Given the description of an element on the screen output the (x, y) to click on. 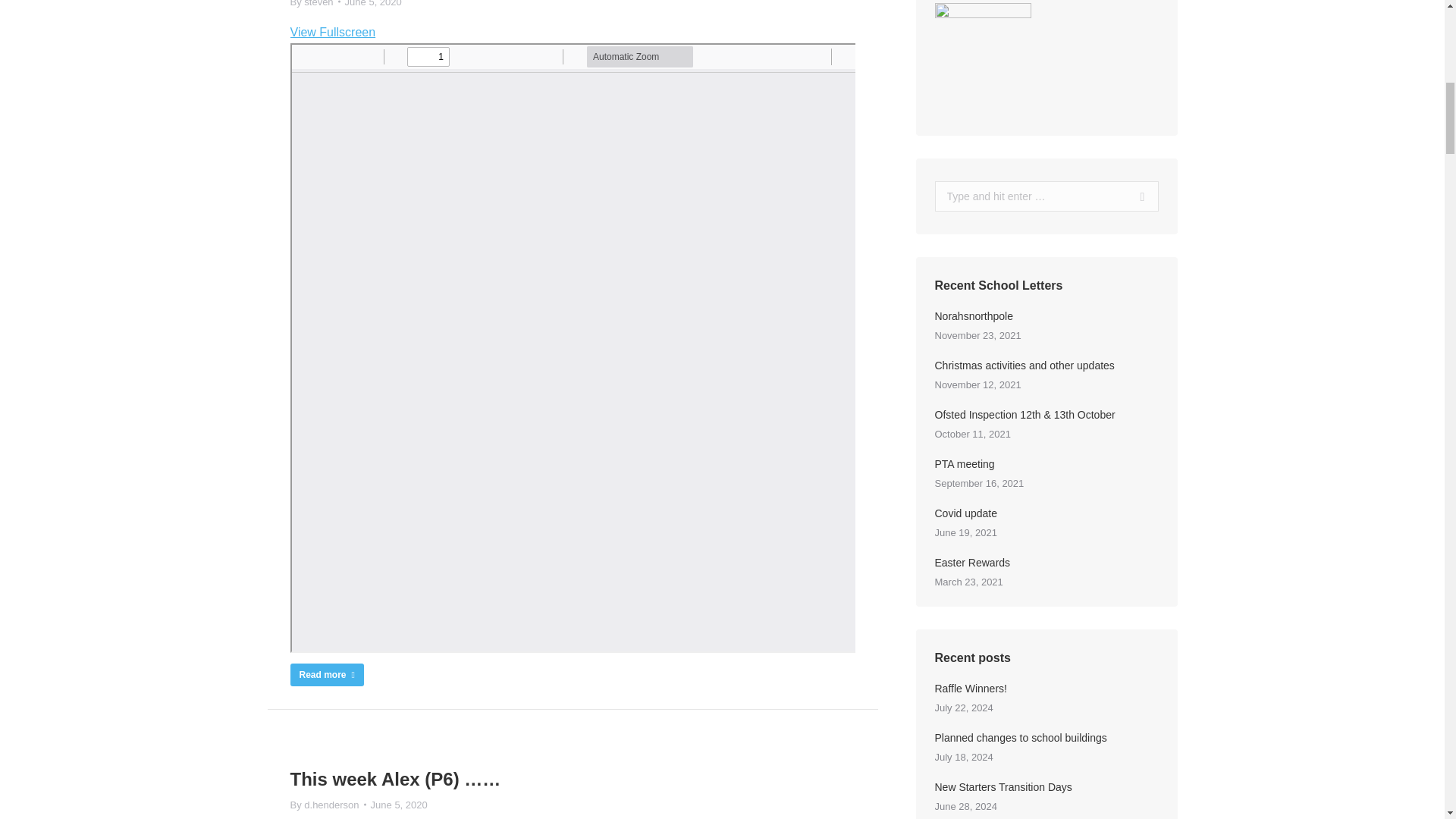
Go! (1136, 195)
Go! (1136, 195)
View all posts by d.henderson (327, 805)
View all posts by steven (314, 5)
2:18 pm (373, 5)
1:46 pm (399, 805)
